Given the description of an element on the screen output the (x, y) to click on. 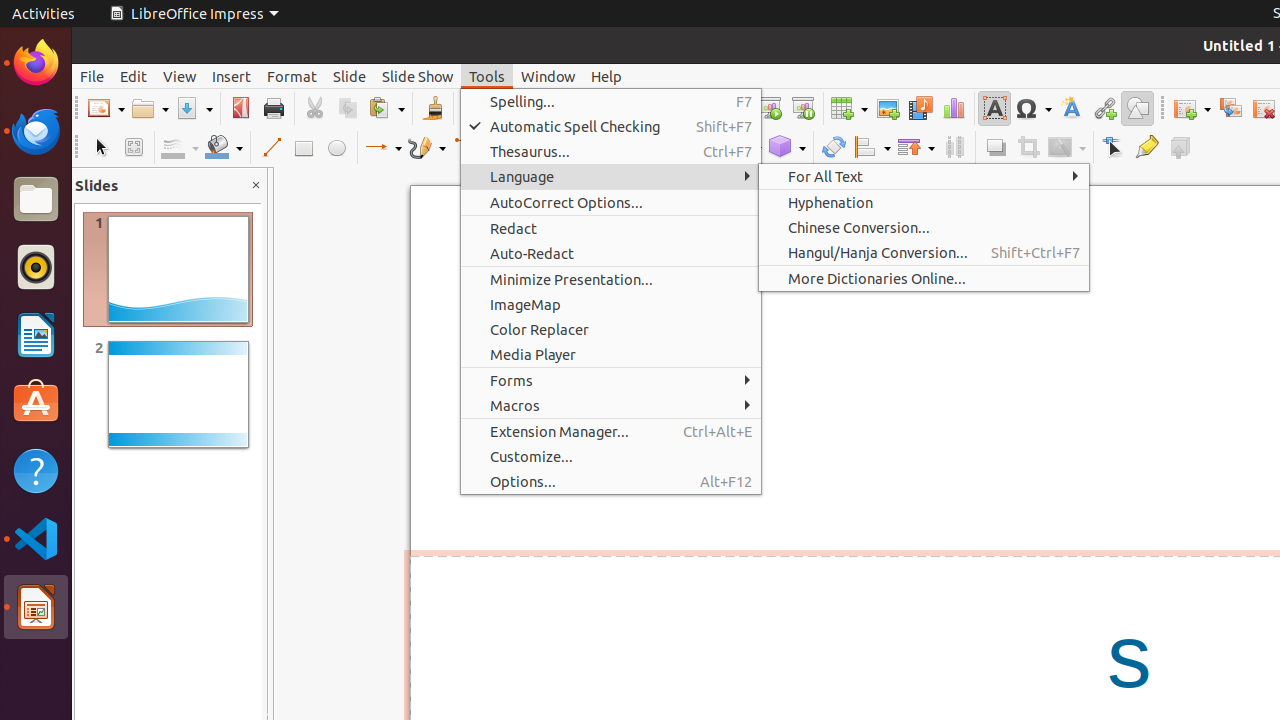
AutoCorrect Options... Element type: menu-item (611, 202)
LibreOffice Impress Element type: push-button (36, 607)
Close Pane Element type: push-button (255, 185)
Media Player Element type: check-menu-item (611, 354)
